Given the description of an element on the screen output the (x, y) to click on. 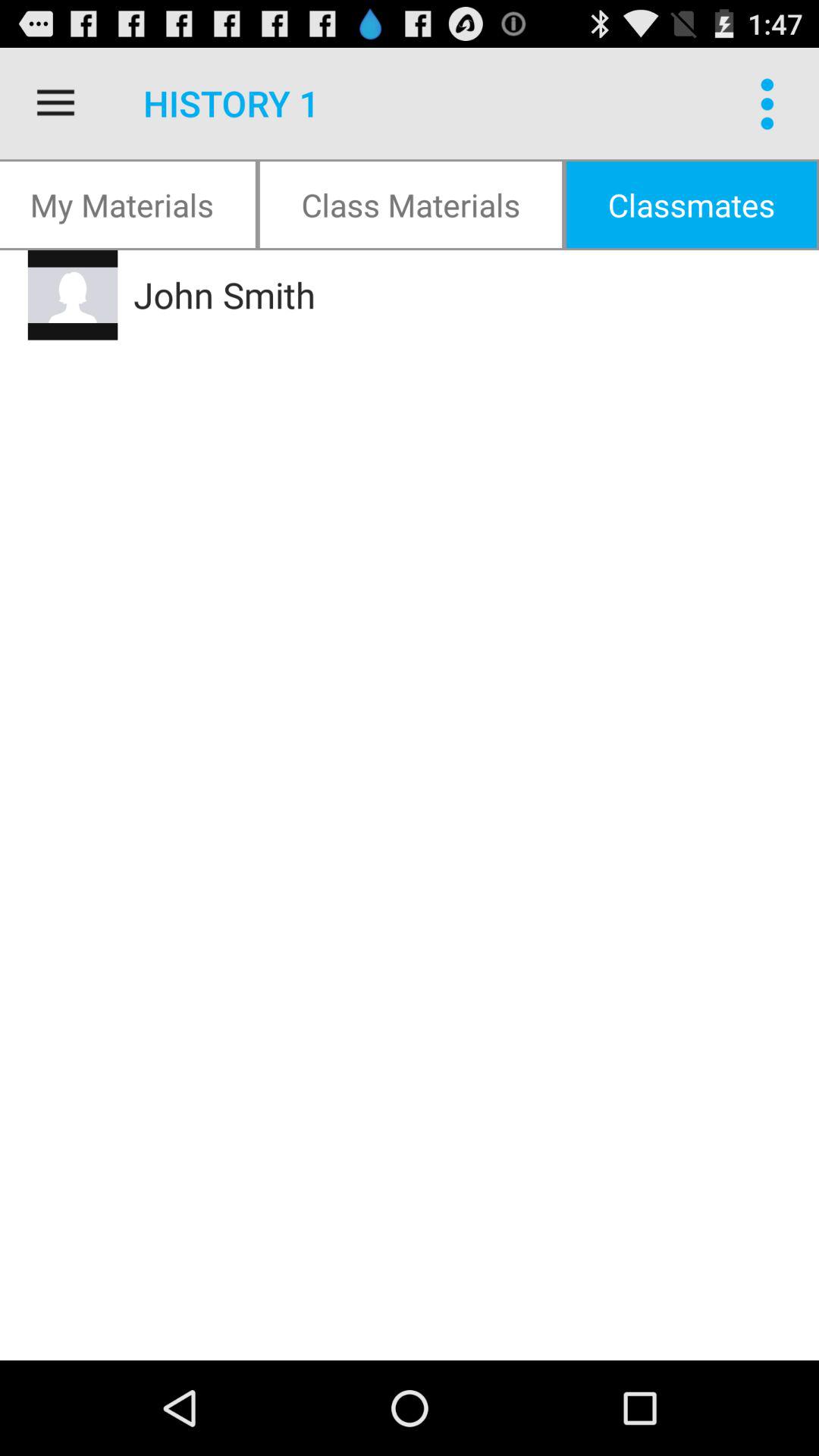
choose item above classmates (771, 103)
